Given the description of an element on the screen output the (x, y) to click on. 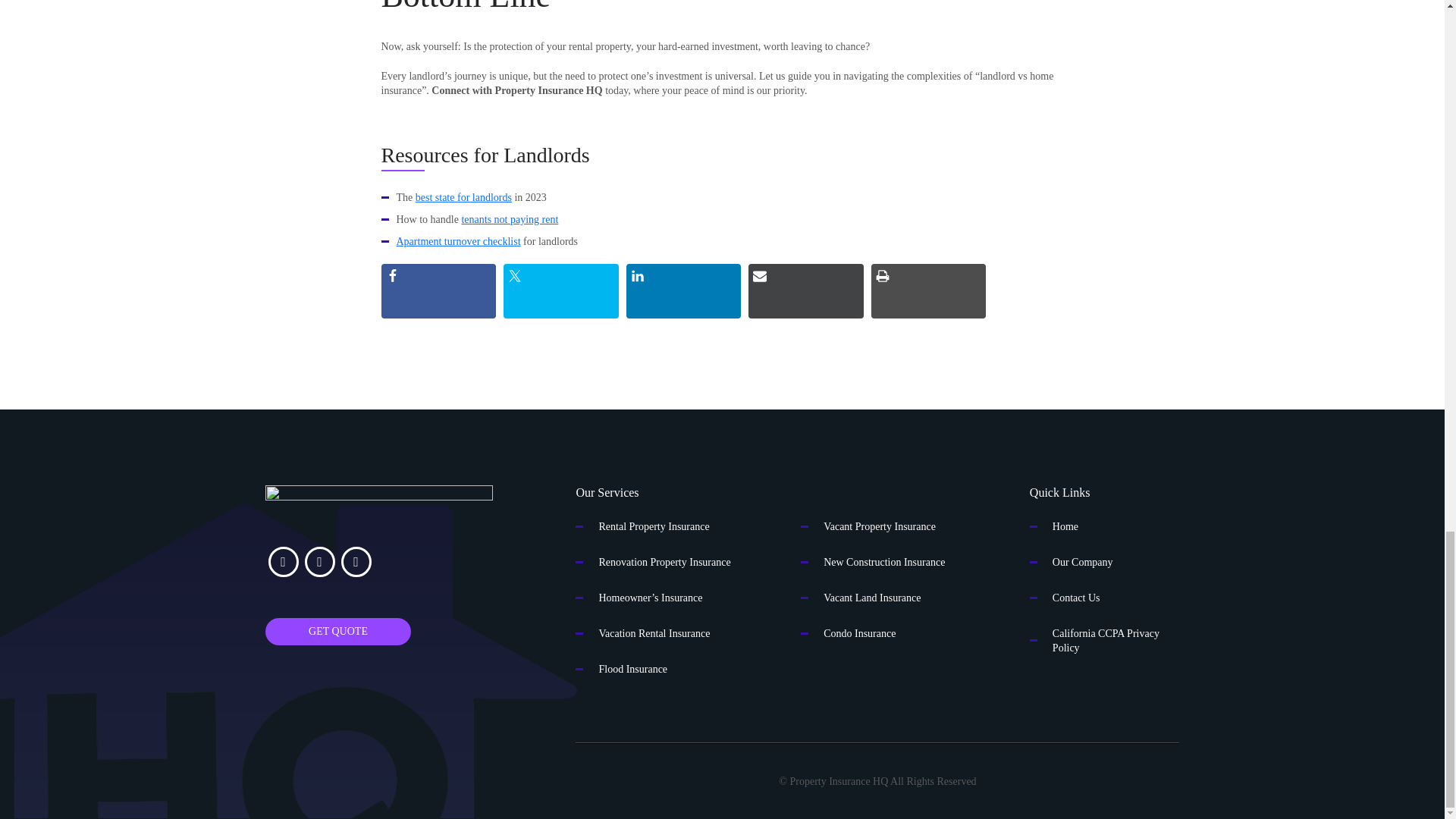
Apartment turnover checklist (457, 241)
Default Label (355, 562)
best state for landlords (463, 197)
facebook (282, 562)
Share on Twitter (560, 290)
instagram (319, 562)
tenants not paying rent (509, 219)
Share on Facebook (438, 290)
Instagram (319, 562)
Facebook (282, 562)
